Given the description of an element on the screen output the (x, y) to click on. 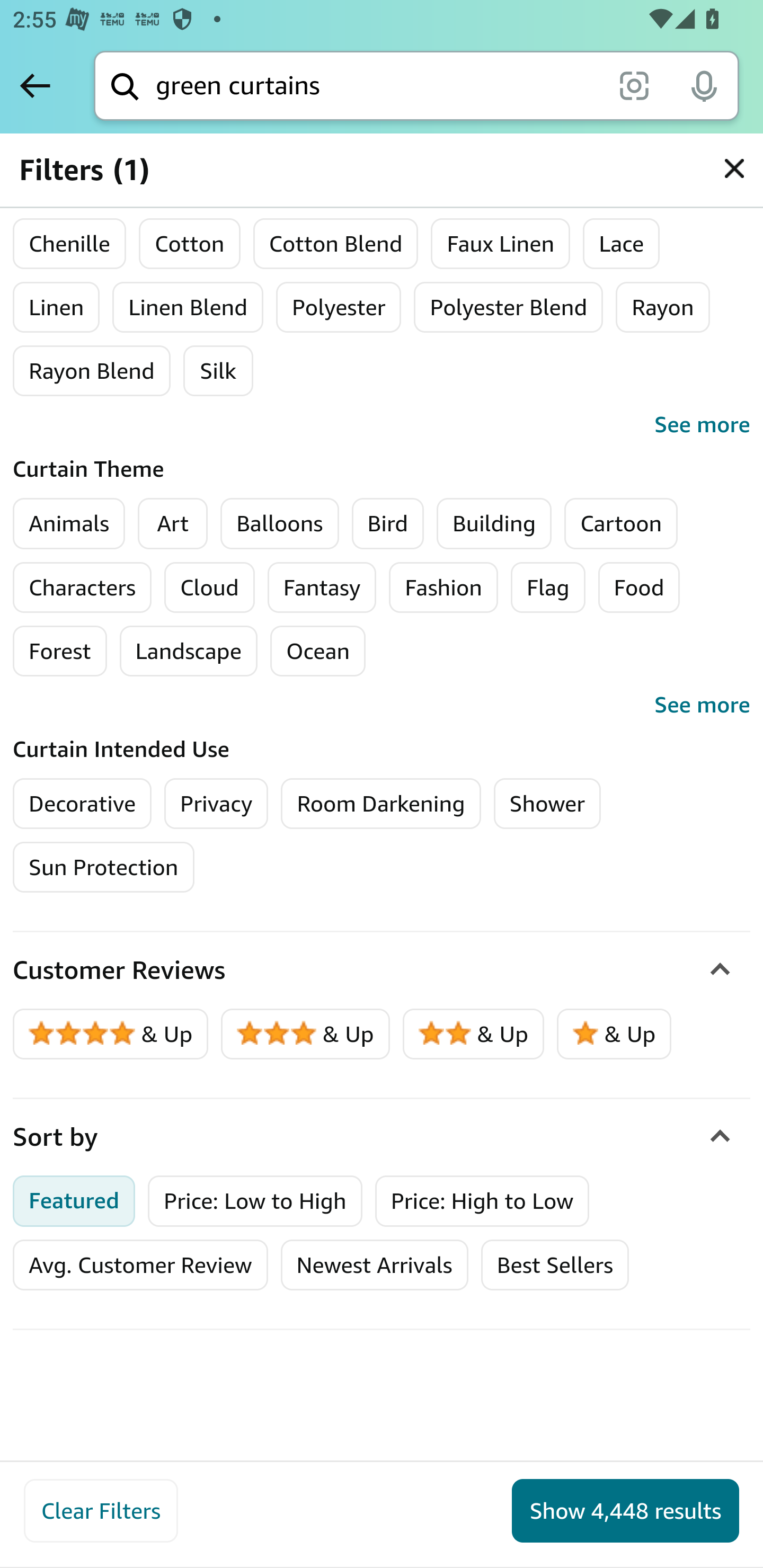
Back (35, 85)
scan it (633, 85)
Chenille (69, 243)
Cotton (189, 243)
Cotton Blend (335, 243)
Faux Linen (500, 243)
Lace (621, 243)
Linen (55, 306)
Linen Blend (187, 306)
Polyester (338, 306)
Polyester Blend (508, 306)
Rayon (662, 306)
Rayon Blend (91, 370)
Silk (218, 370)
See more, Curtain Material See more (381, 424)
Animals (68, 523)
Art (172, 523)
Balloons (279, 523)
Bird (387, 523)
Building (494, 523)
Cartoon (621, 523)
Characters (82, 587)
Cloud (209, 587)
Fantasy (321, 587)
Fashion (443, 587)
Flag (548, 587)
Food (638, 587)
Forest (60, 650)
Landscape (188, 650)
Ocean (317, 650)
See more, Curtain Theme See more (381, 704)
Decorative (82, 803)
Privacy (216, 803)
Room Darkening (380, 803)
Shower (546, 803)
Sun Protection (103, 866)
Customer Reviews (381, 970)
4 Stars & Up (110, 1033)
3 Stars & Up (305, 1033)
2 Stars & Up (473, 1033)
1 Star & Up (614, 1033)
Sort by (381, 1136)
Price: Low to High (255, 1200)
Price: High to Low (481, 1200)
Avg. Customer Review (140, 1264)
Newest Arrivals (374, 1264)
Best Sellers (554, 1264)
Clear Filters (100, 1510)
Show 4,448 results (625, 1510)
